Given the description of an element on the screen output the (x, y) to click on. 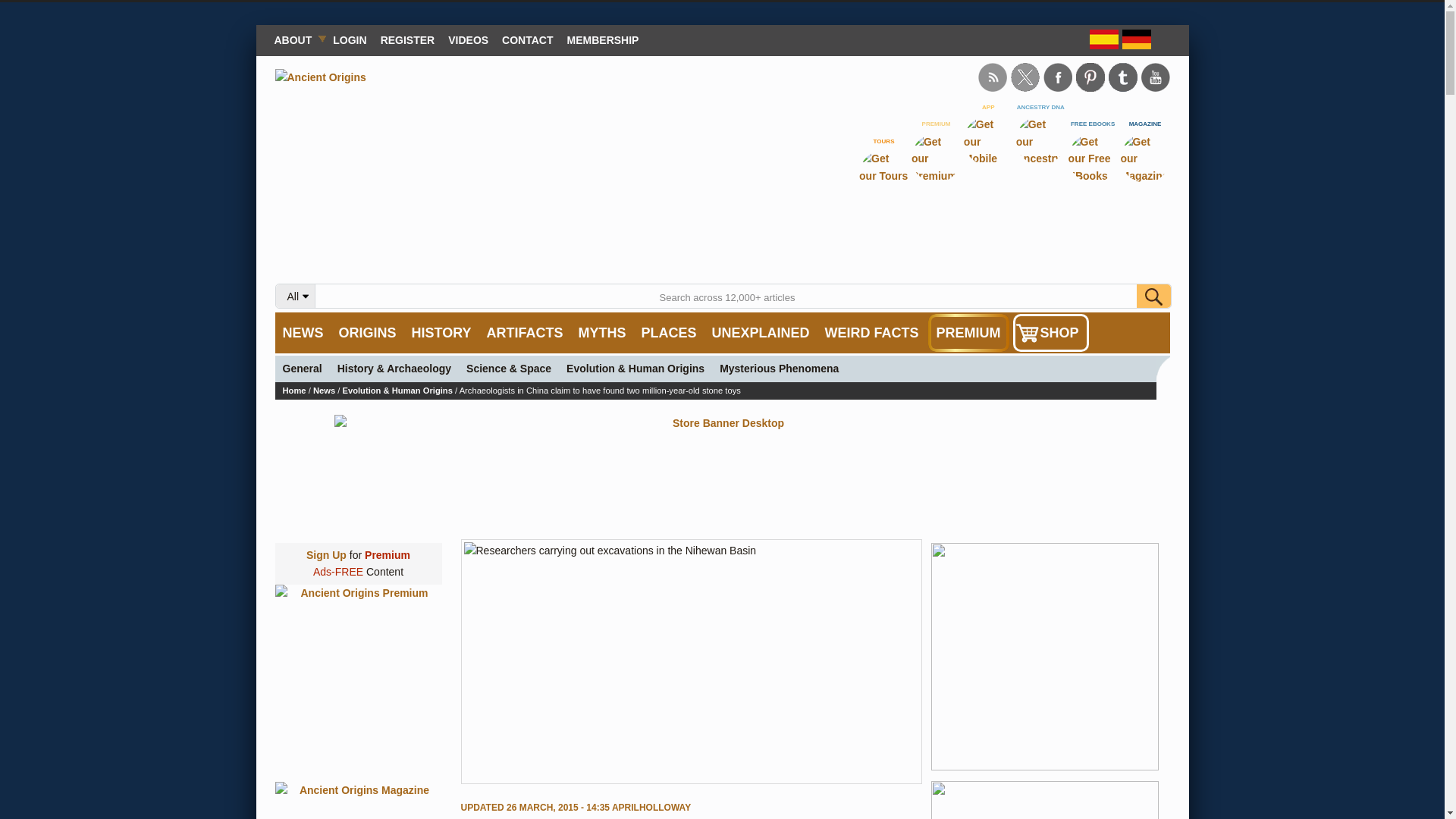
Find (1152, 295)
MEMBERSHIP (603, 40)
Become a registered user (408, 40)
Login (349, 40)
Video Gallery (468, 40)
LOGIN (349, 40)
Contact us (526, 40)
REGISTER (408, 40)
CONTACT (526, 40)
VIDEOS (468, 40)
ABOUT (296, 40)
Our Mission (296, 40)
